Given the description of an element on the screen output the (x, y) to click on. 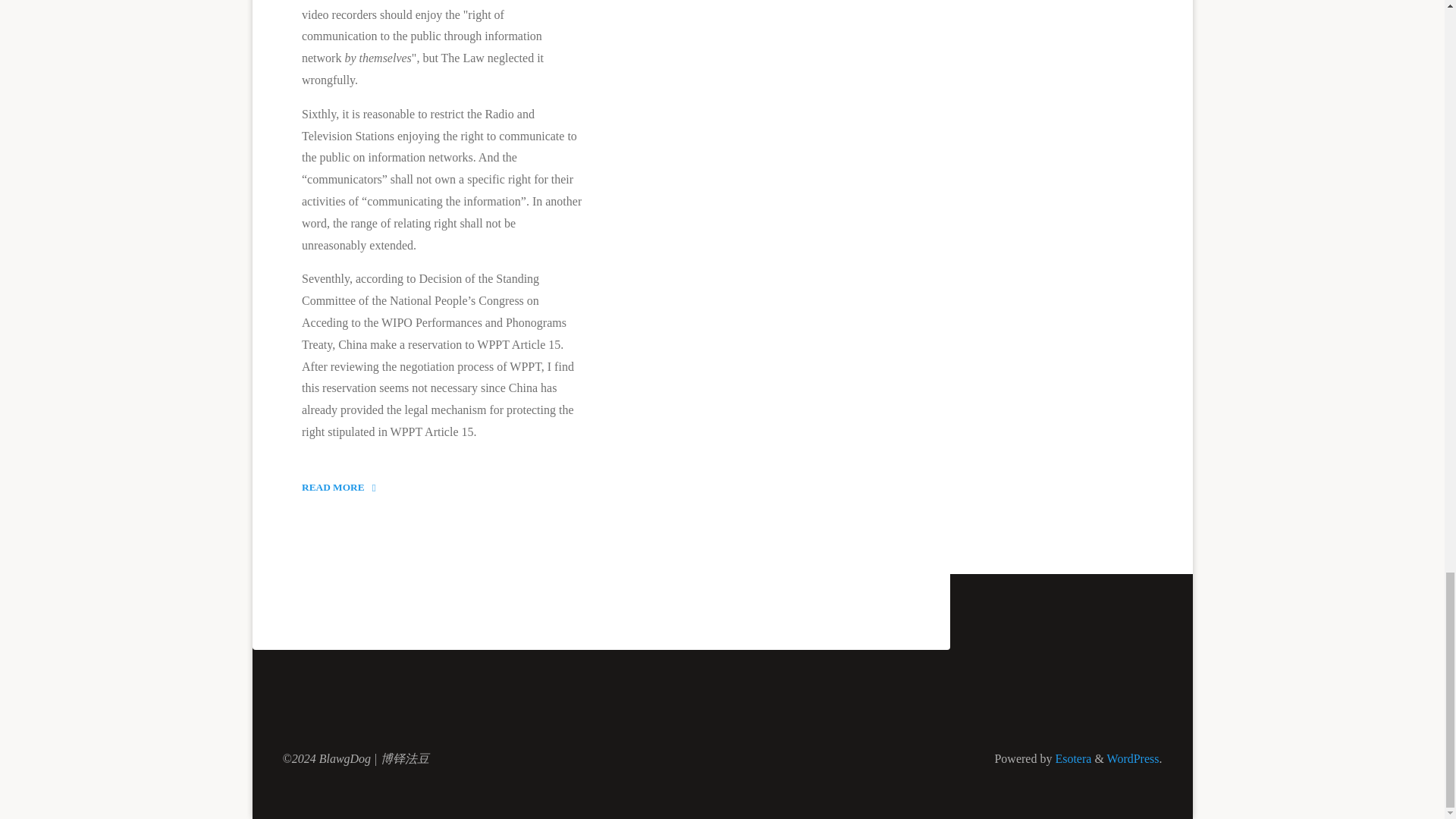
Esotera WordPress Theme by Cryout Creations (1070, 758)
Semantic Personal Publishing Platform (344, 486)
